Given the description of an element on the screen output the (x, y) to click on. 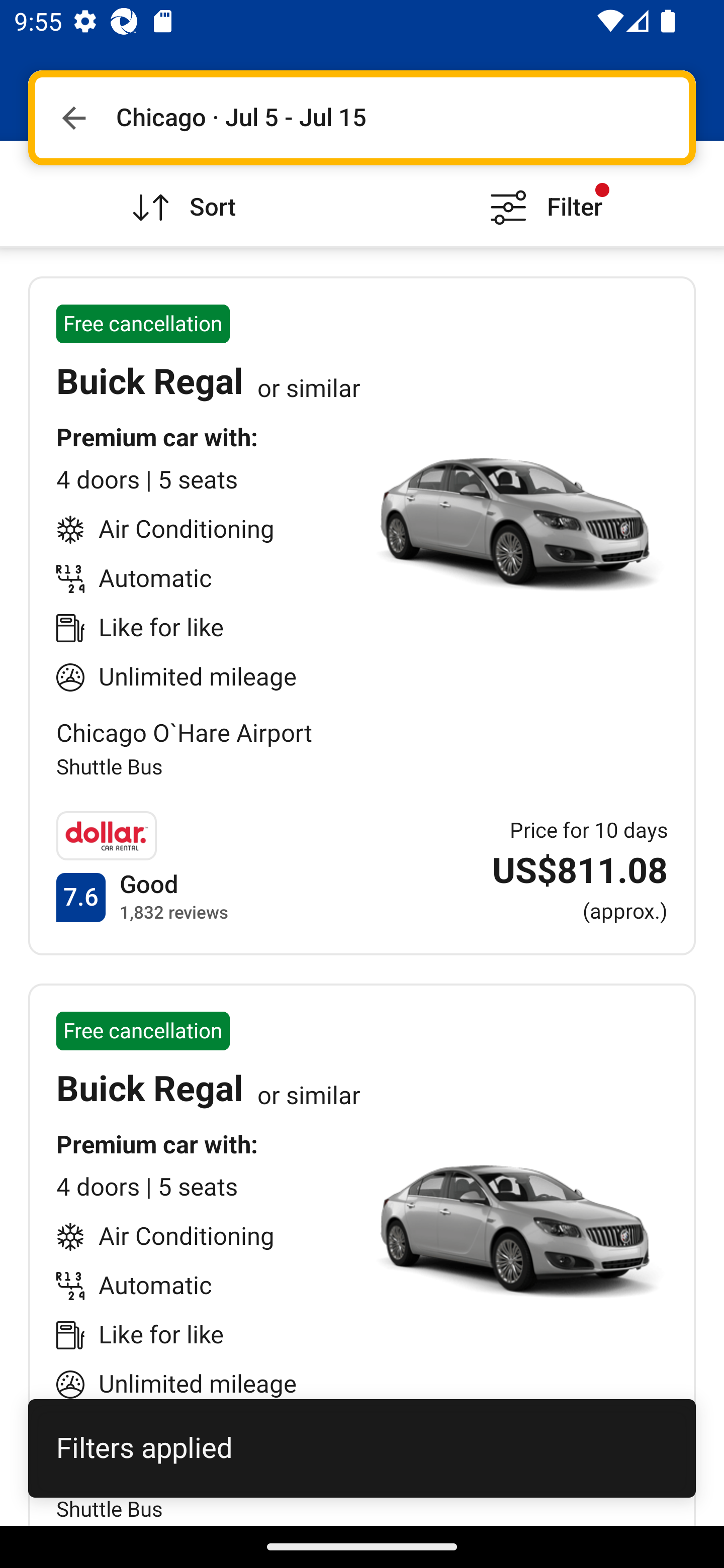
Back to previous screen (73, 117)
Sort (181, 193)
Filter (543, 193)
